Given the description of an element on the screen output the (x, y) to click on. 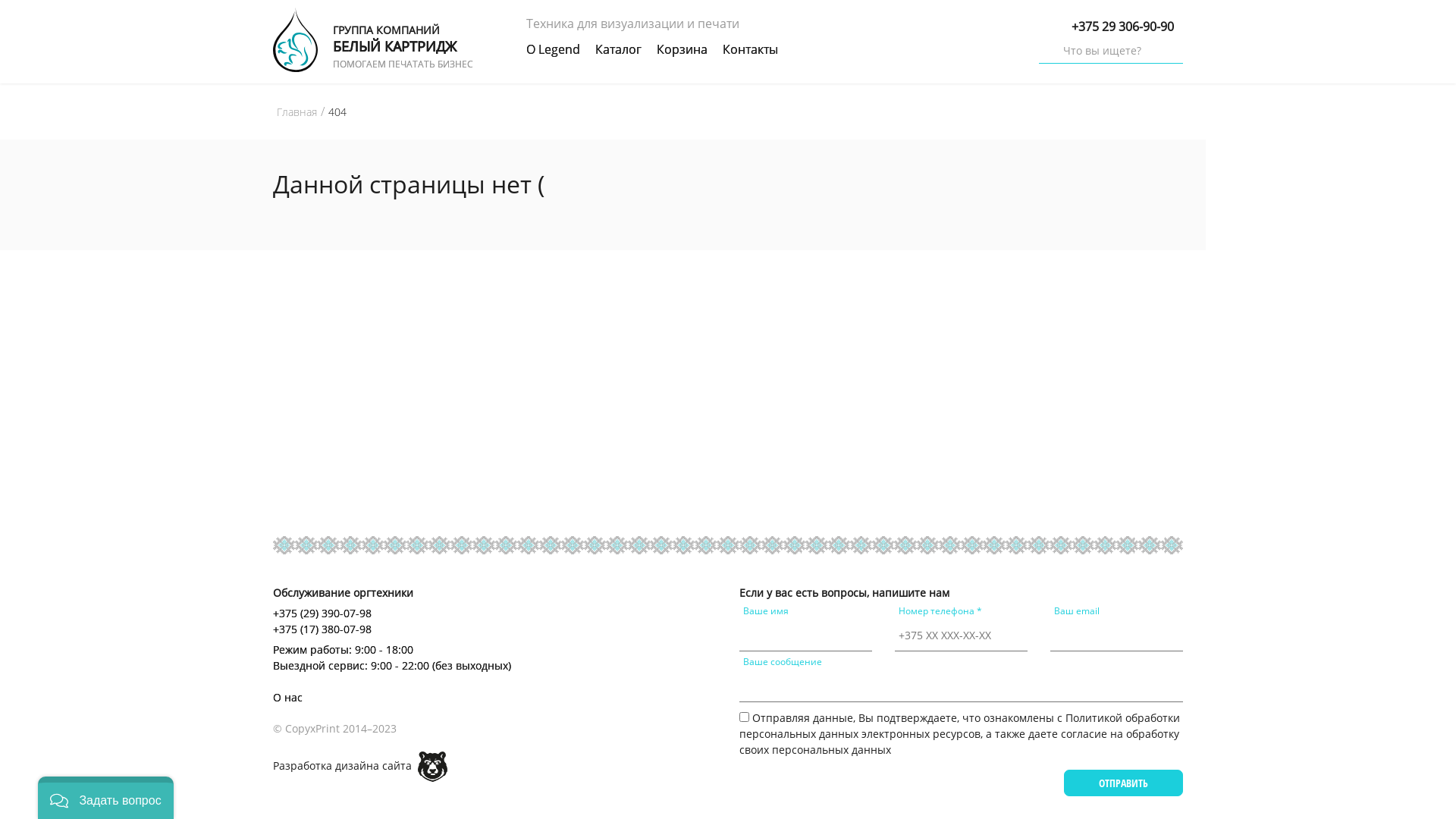
+375 (17) 380-07-98 Element type: text (417, 629)
+375 29 306-90-90 Element type: text (1122, 26)
+375 XX XXX-XX-XX Element type: hover (960, 635)
GRIZZLY DIGITAL COMPANY Element type: hover (432, 766)
+375 (29) 390-07-98 Element type: text (417, 613)
